Given the description of an element on the screen output the (x, y) to click on. 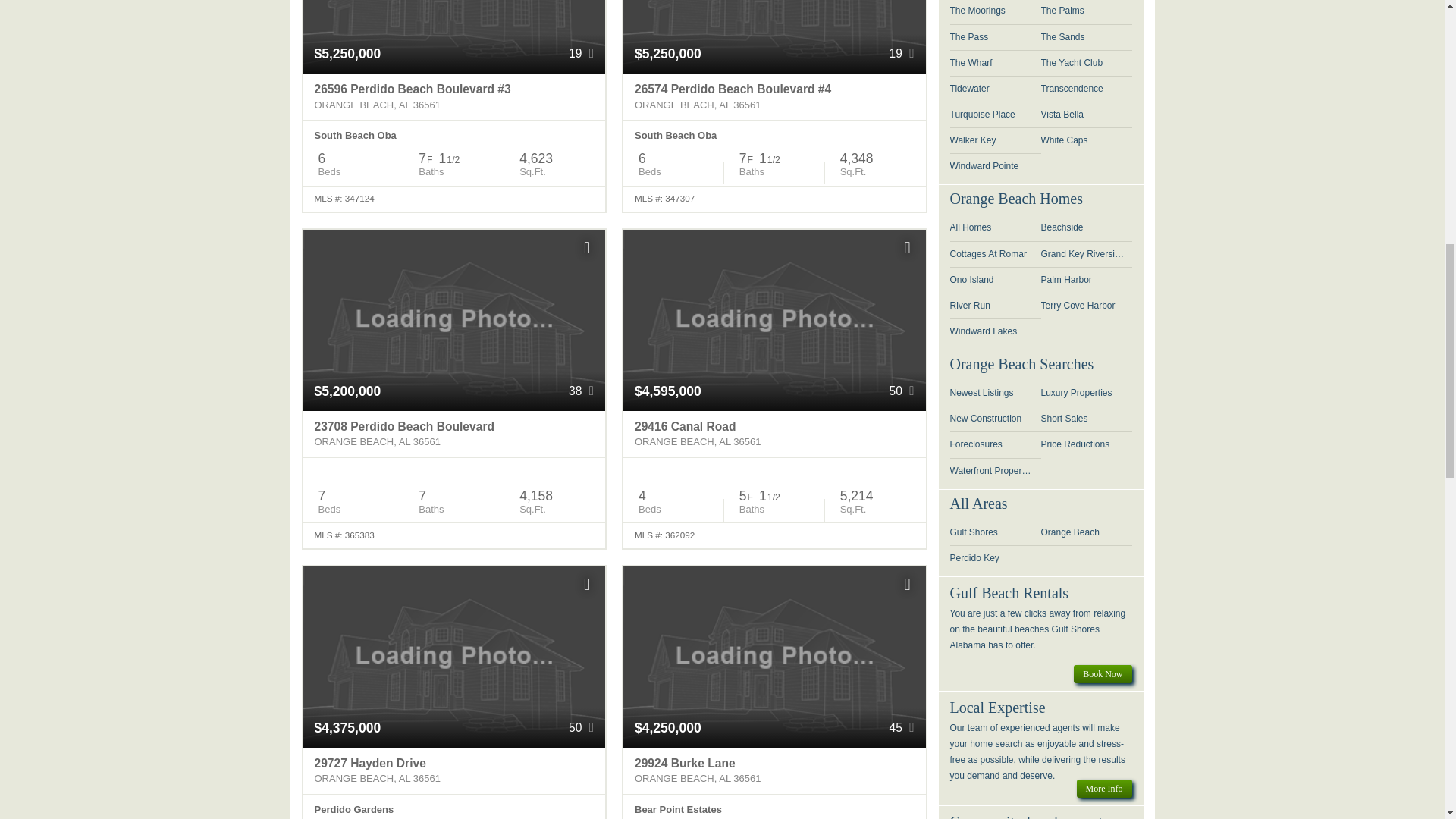
23708 Perdido Beach Boulevard Orange Beach,  AL 36561 (453, 434)
29416 Canal Road Orange Beach,  AL 36561 (774, 434)
29727 Hayden Drive Orange Beach,  AL 36561 (453, 434)
29924 Burke Lane Orange Beach,  AL 36561 (774, 434)
